Given the description of an element on the screen output the (x, y) to click on. 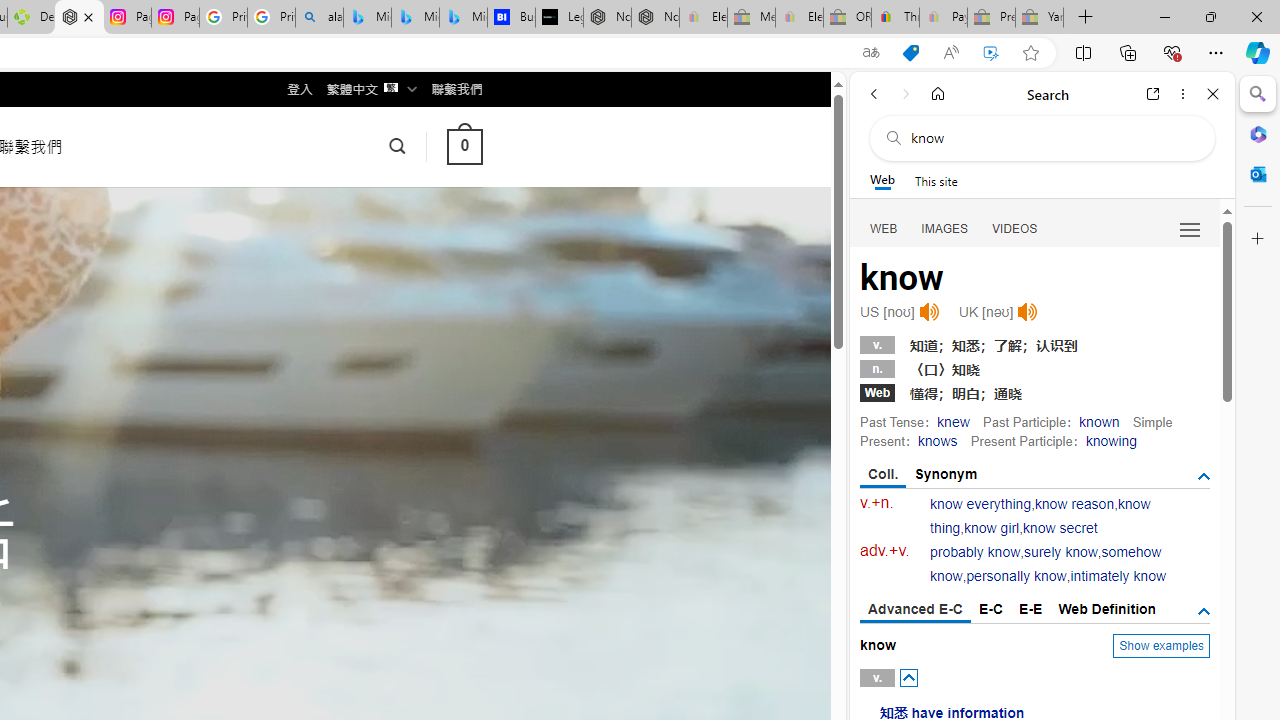
know everything (980, 503)
know thing (1040, 515)
WEB (884, 228)
surely know (1060, 552)
Preferences (1189, 228)
Web scope (882, 180)
